Given the description of an element on the screen output the (x, y) to click on. 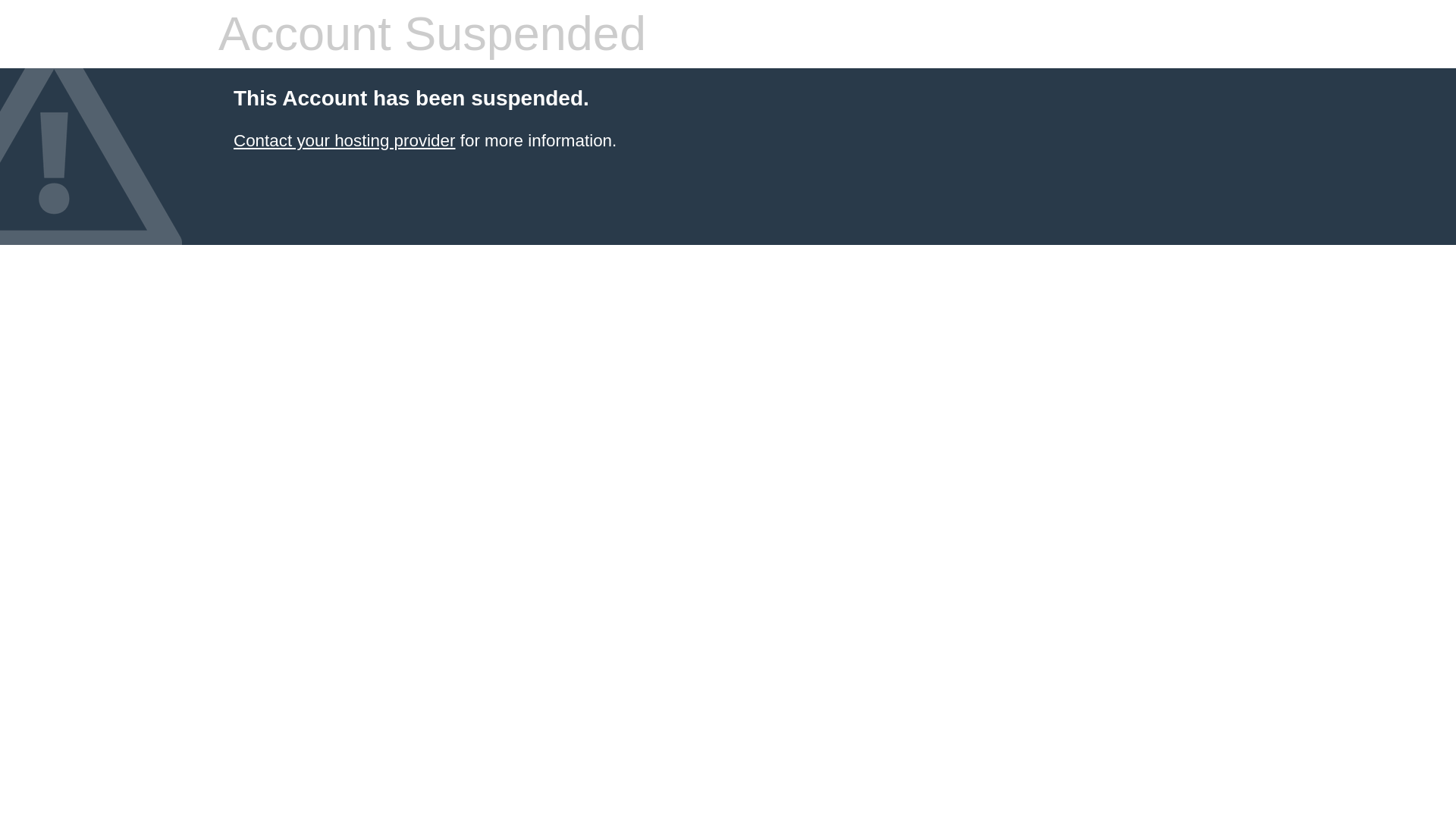
Contact your hosting provider (343, 140)
